Given the description of an element on the screen output the (x, y) to click on. 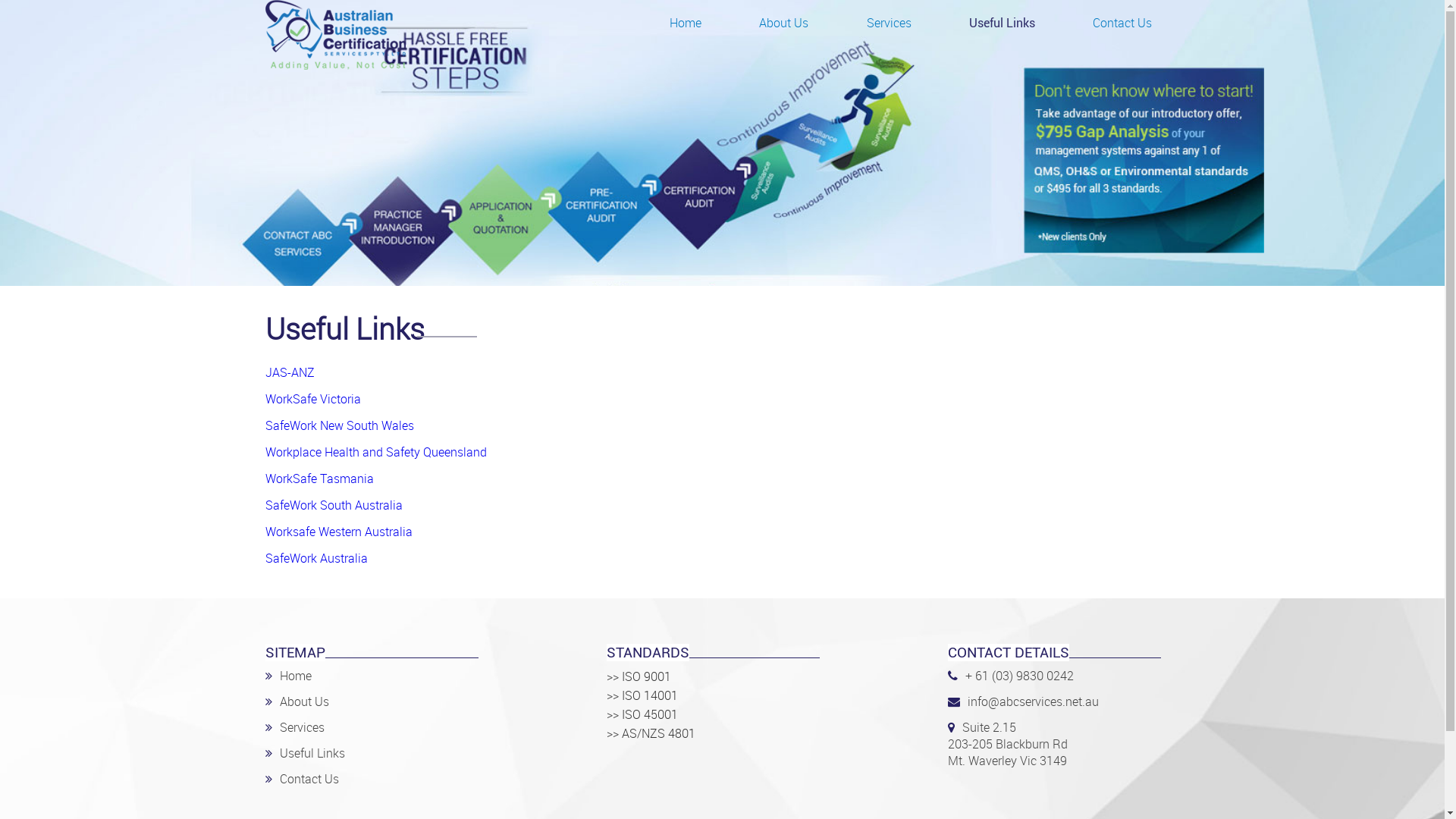
Home Element type: text (685, 22)
SafeWork South Australia Element type: text (333, 504)
+ 61 (03) 9830 0242 Element type: text (1019, 675)
Useful Links Element type: text (311, 752)
SafeWork New South Wales Element type: text (339, 425)
About Us Element type: text (783, 22)
Useful Links Element type: text (1002, 22)
WorkSafe Victoria Element type: text (312, 398)
Services Element type: text (888, 22)
JAS-ANZ Element type: text (289, 372)
Australian Business Certification Element type: hover (335, 65)
Home Element type: text (294, 675)
Contact Us Element type: text (1121, 22)
About Us Element type: text (303, 701)
Worksafe Western Australia Element type: text (338, 531)
SafeWork Australia Element type: text (316, 557)
info@abcservices.net.au Element type: text (1032, 701)
Services Element type: text (301, 726)
Contact Us Element type: text (308, 778)
Workplace Health and Safety Queensland Element type: text (375, 451)
WorkSafe Tasmania Element type: text (319, 478)
